Given the description of an element on the screen output the (x, y) to click on. 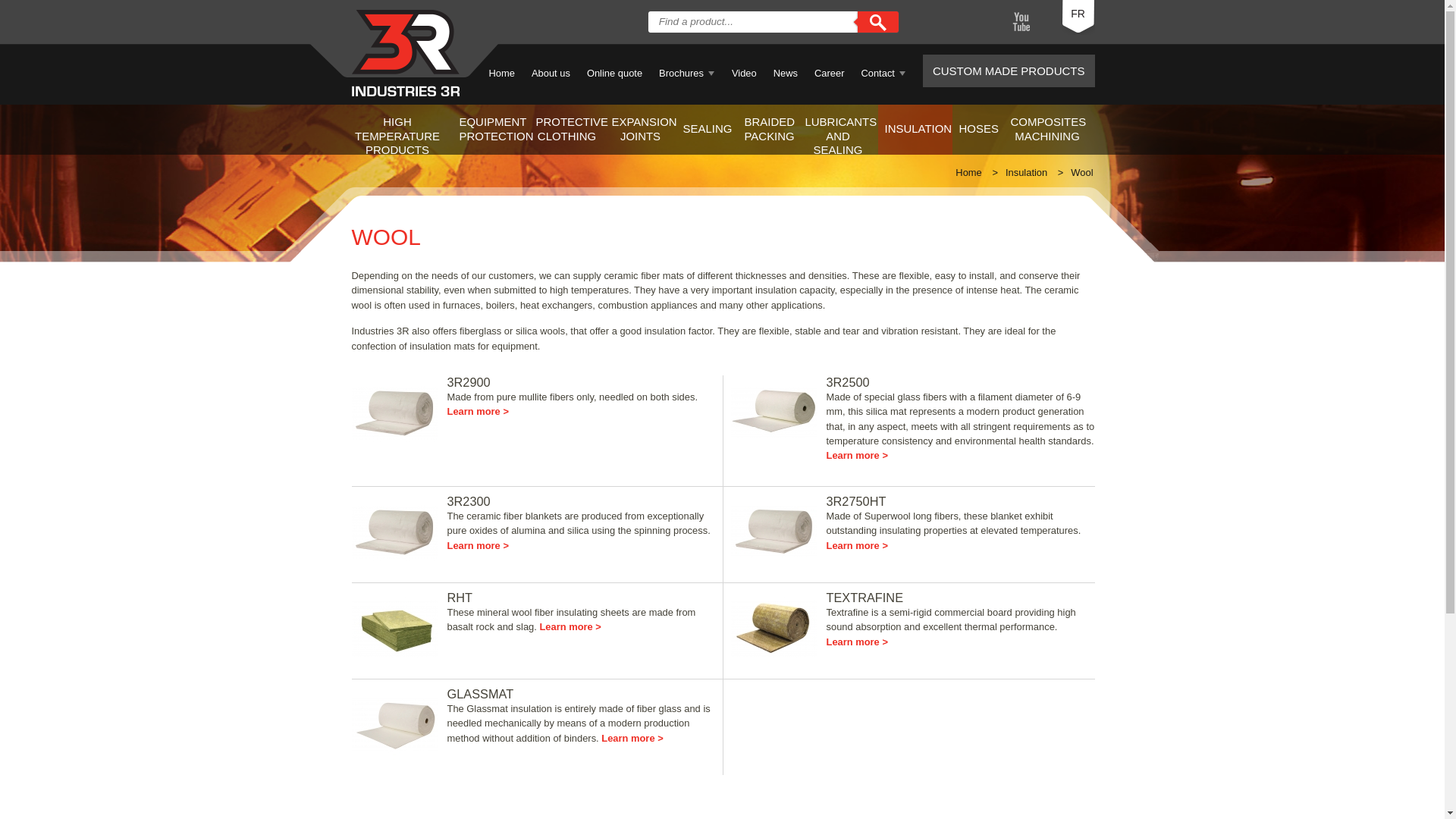
Video (744, 72)
Home (500, 72)
Insulation (1026, 172)
RHT (459, 597)
3R2500 (848, 382)
Home (968, 172)
Contact (882, 72)
3R2300 (468, 500)
3R2900 (468, 382)
TEXTRAFINE (865, 597)
